Given the description of an element on the screen output the (x, y) to click on. 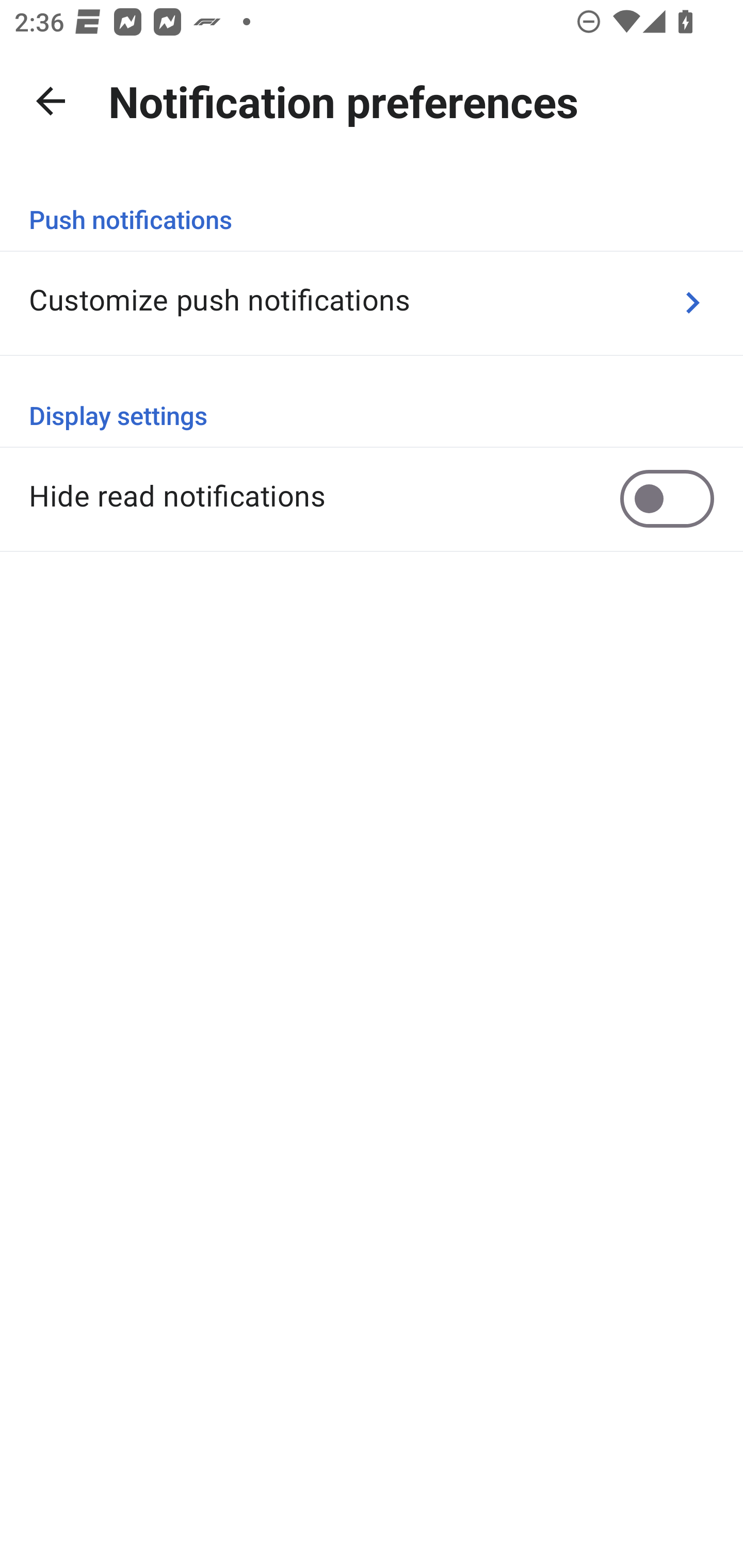
Navigate up (50, 101)
Customize push notifications (371, 302)
Hide read notifications (371, 498)
